Given the description of an element on the screen output the (x, y) to click on. 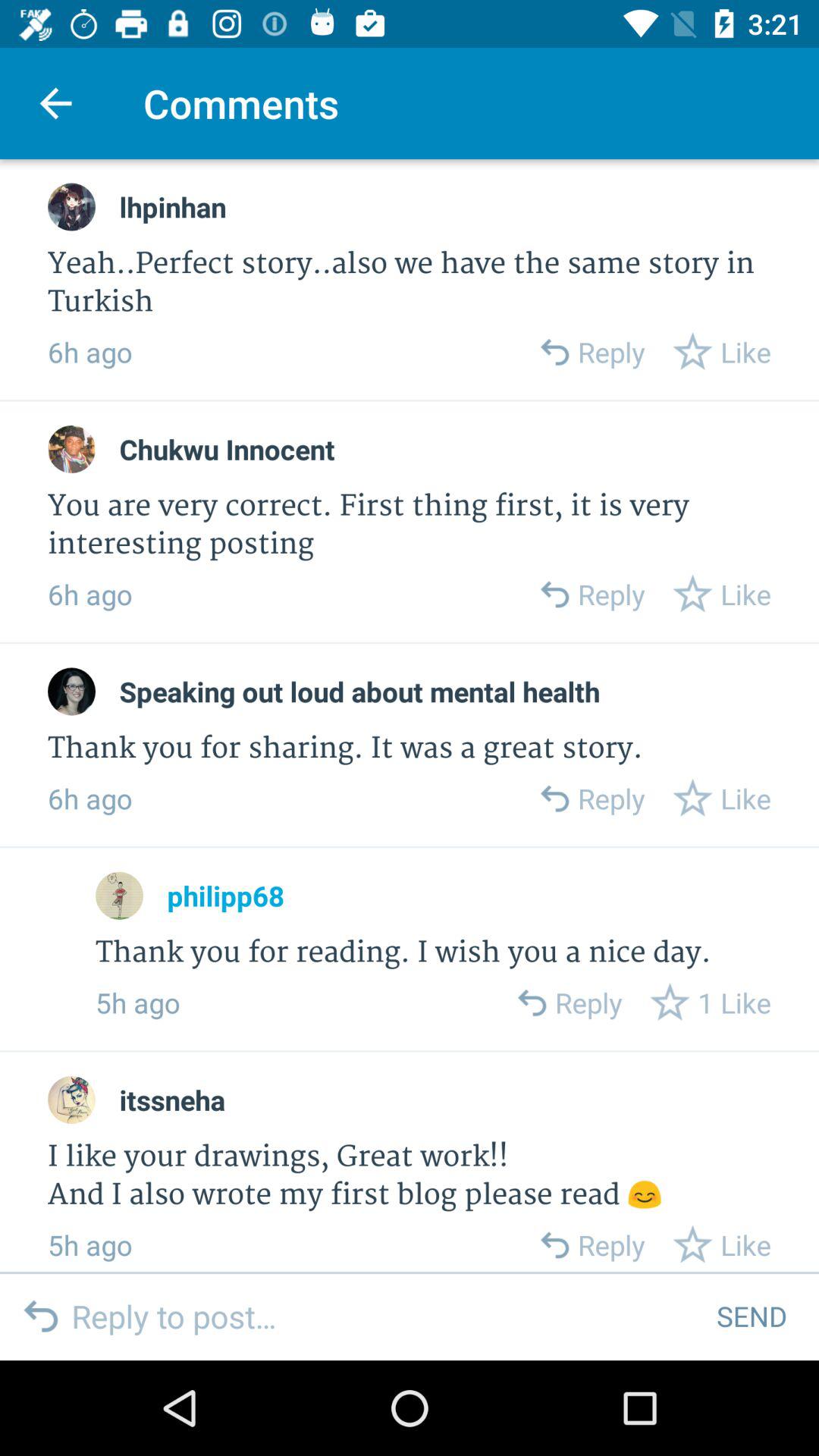
view profile image (71, 206)
